Given the description of an element on the screen output the (x, y) to click on. 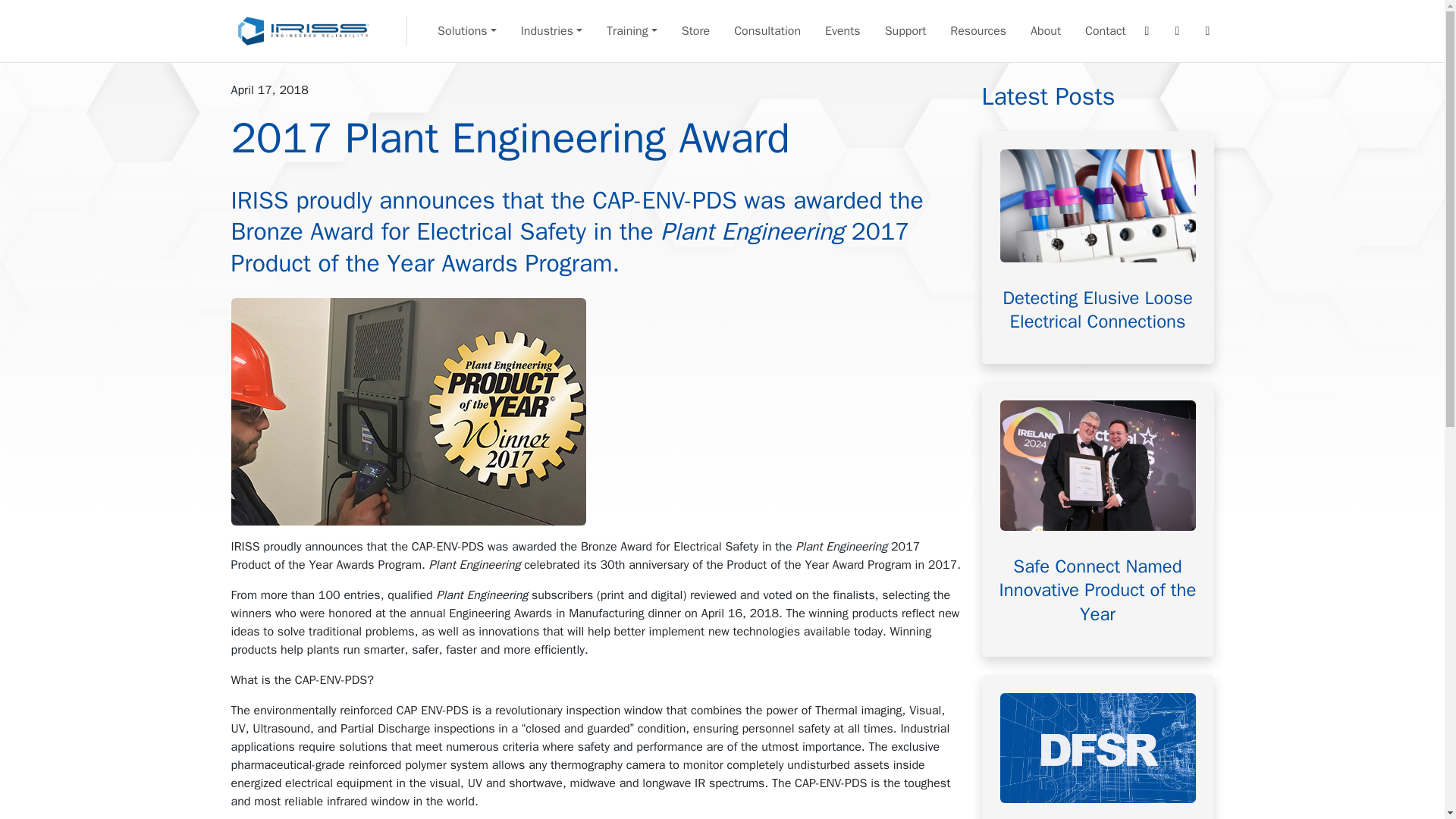
Solutions (466, 30)
Training (631, 30)
About (1045, 30)
Resources (977, 30)
Events (842, 30)
Industries (551, 30)
Store (695, 30)
Consultation (767, 30)
Support (905, 30)
Contact (1105, 30)
